Given the description of an element on the screen output the (x, y) to click on. 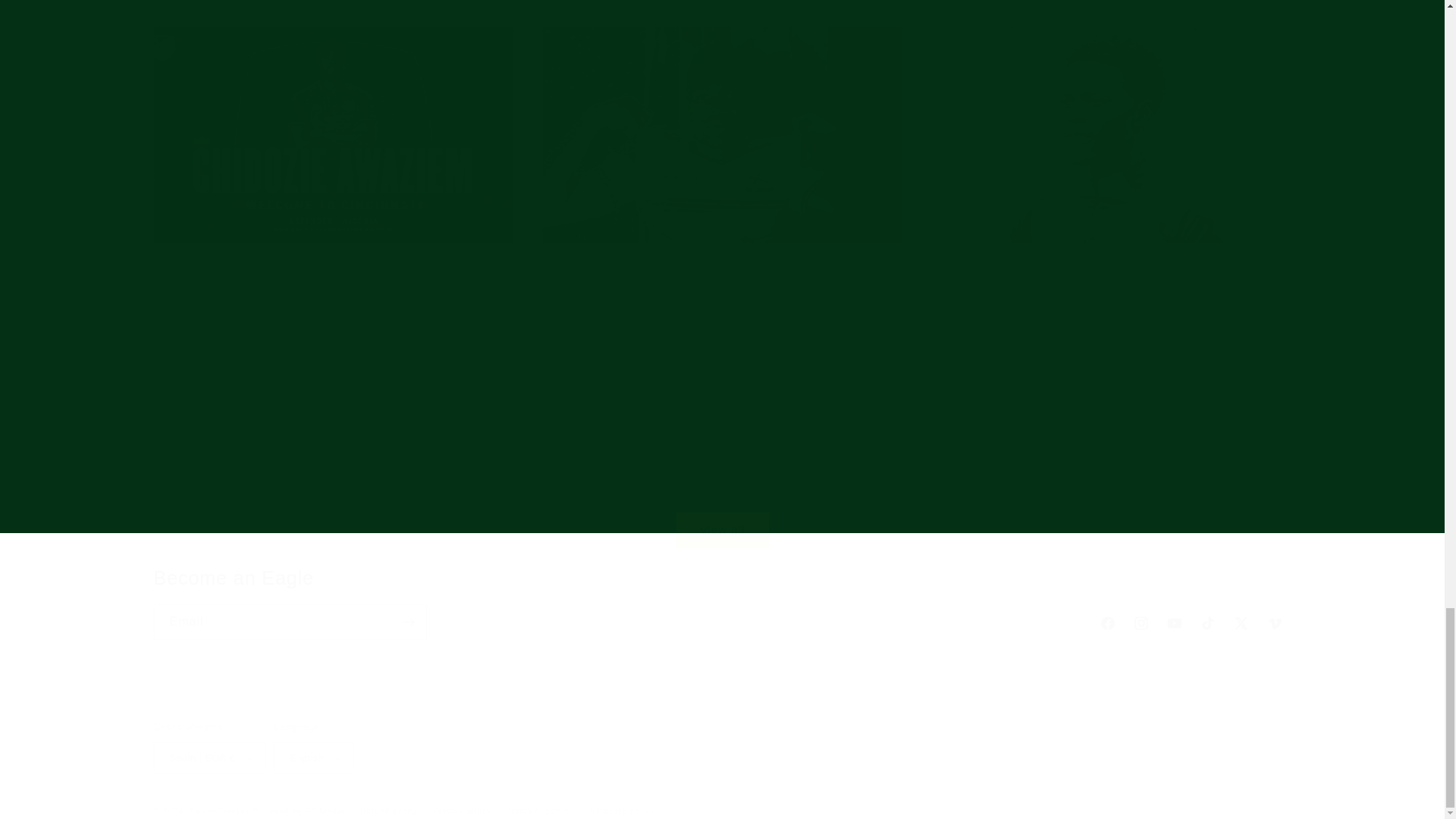
View all (721, 510)
